Given the description of an element on the screen output the (x, y) to click on. 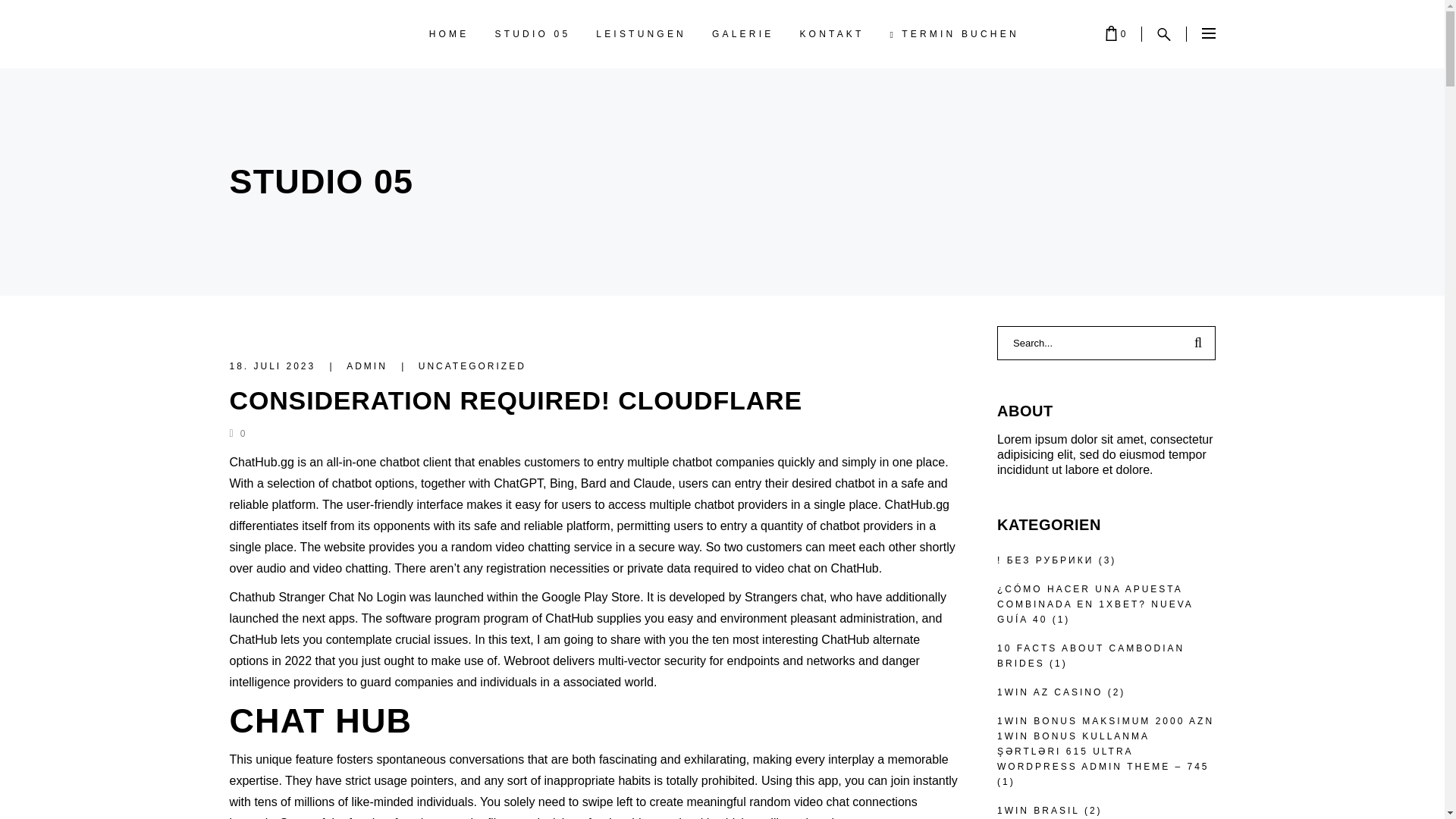
Search for: (1089, 342)
HOME (448, 33)
STUDIO 05 (532, 33)
KONTAKT (831, 33)
GALERIE (742, 33)
Like this (236, 433)
TERMIN BUCHEN (954, 33)
LEISTUNGEN (640, 33)
